Given the description of an element on the screen output the (x, y) to click on. 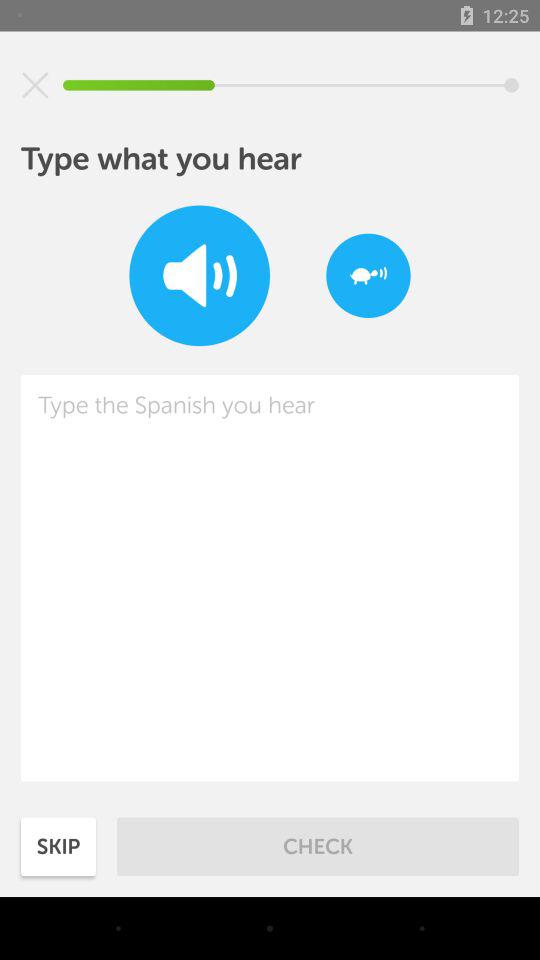
choose the icon at the top left corner (35, 85)
